Given the description of an element on the screen output the (x, y) to click on. 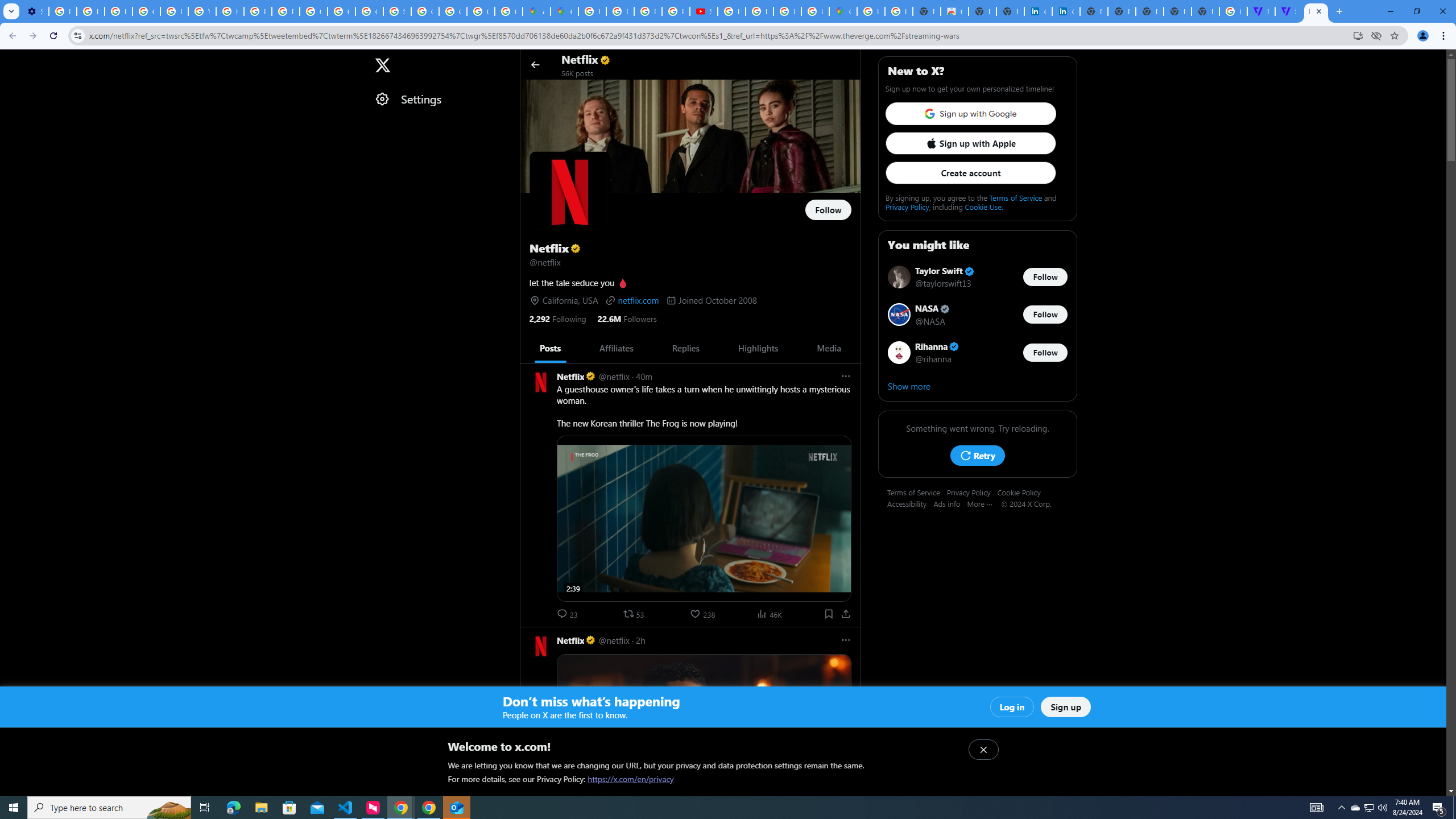
Cookie Policy | LinkedIn (1065, 11)
New Tab (1205, 11)
Ads info (949, 503)
Privacy Help Center - Policies Help (620, 11)
Skip to trending (10, 59)
46751 views. View post analytics (770, 613)
Google Maps (564, 11)
40 minutes ago (644, 376)
Cookie Use. (983, 206)
Cookie Policy (1022, 492)
